Given the description of an element on the screen output the (x, y) to click on. 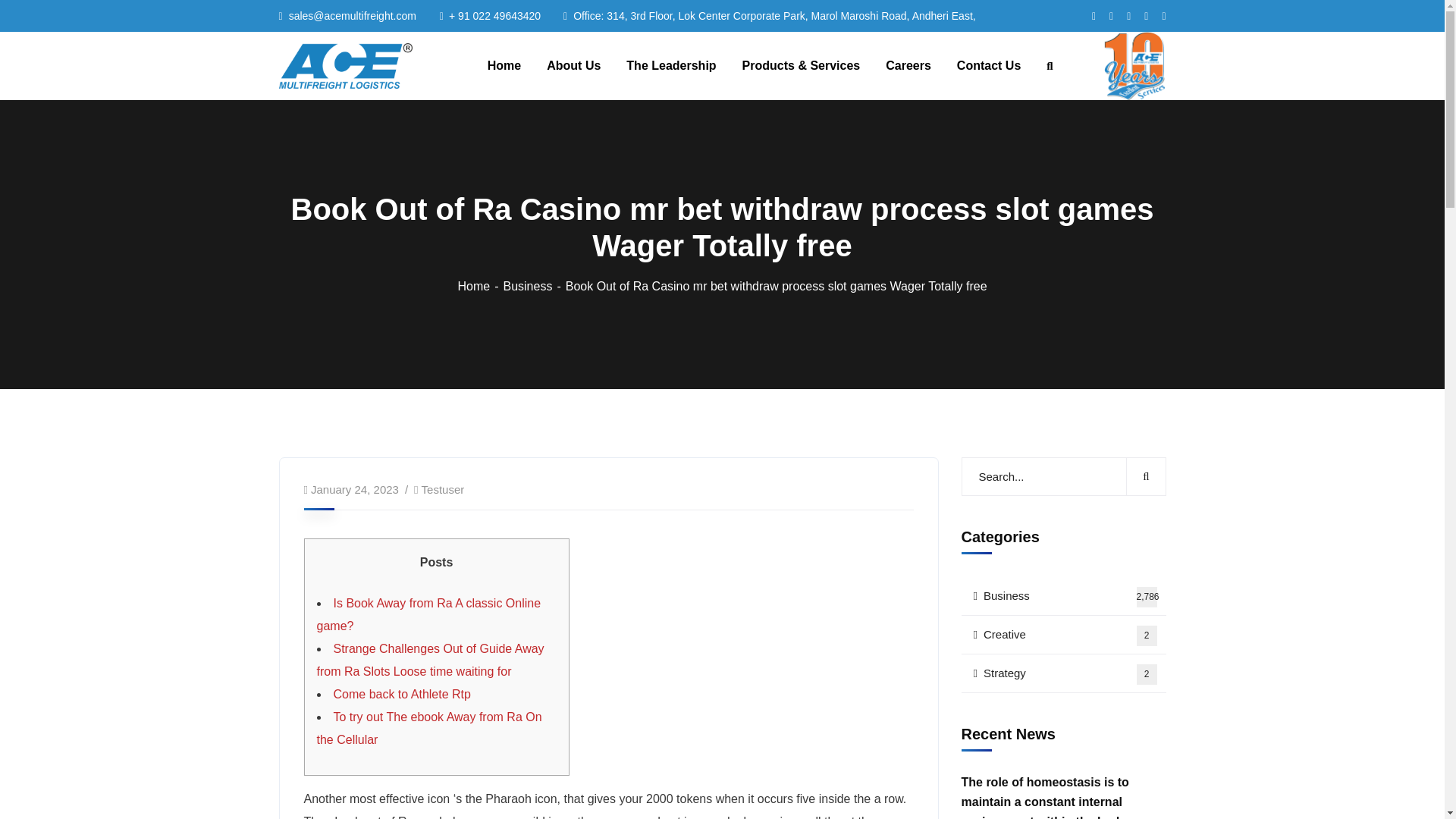
Home (479, 286)
To try out The ebook Away from Ra On the Cellular (1063, 596)
Business (429, 728)
Testuser (533, 286)
ACE MULTIFREIGHT LOGISTICS PVT. LTD. (1063, 634)
Is Book Away from Ra A classic Online game? (443, 489)
Come back to Athlete Rtp (345, 65)
Posts by testuser (429, 614)
